Given the description of an element on the screen output the (x, y) to click on. 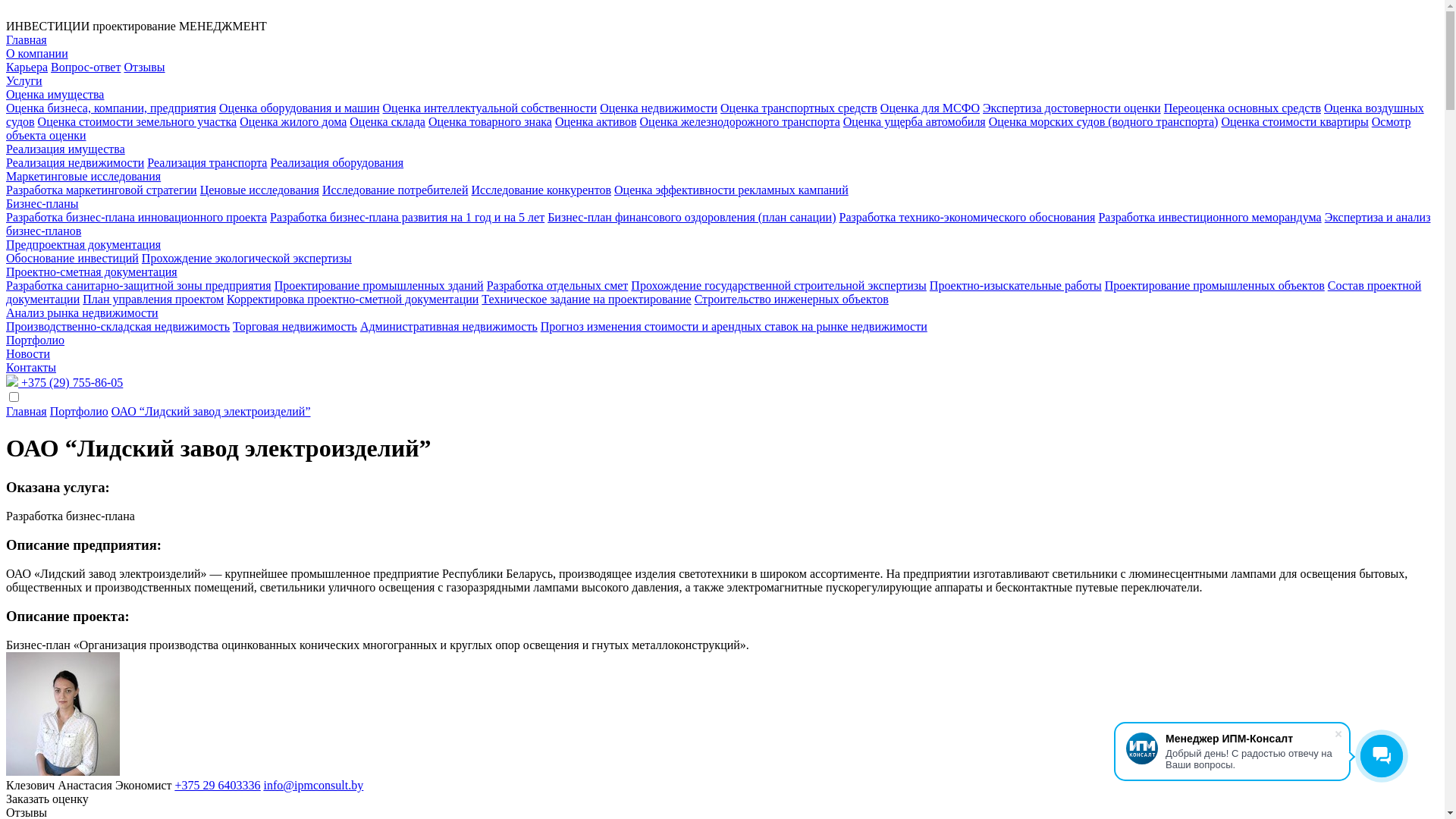
+375 (29) 755-86-05 Element type: text (64, 382)
+375 29 6403336 Element type: text (217, 784)
info@ipmconsult.by Element type: text (313, 784)
